Given the description of an element on the screen output the (x, y) to click on. 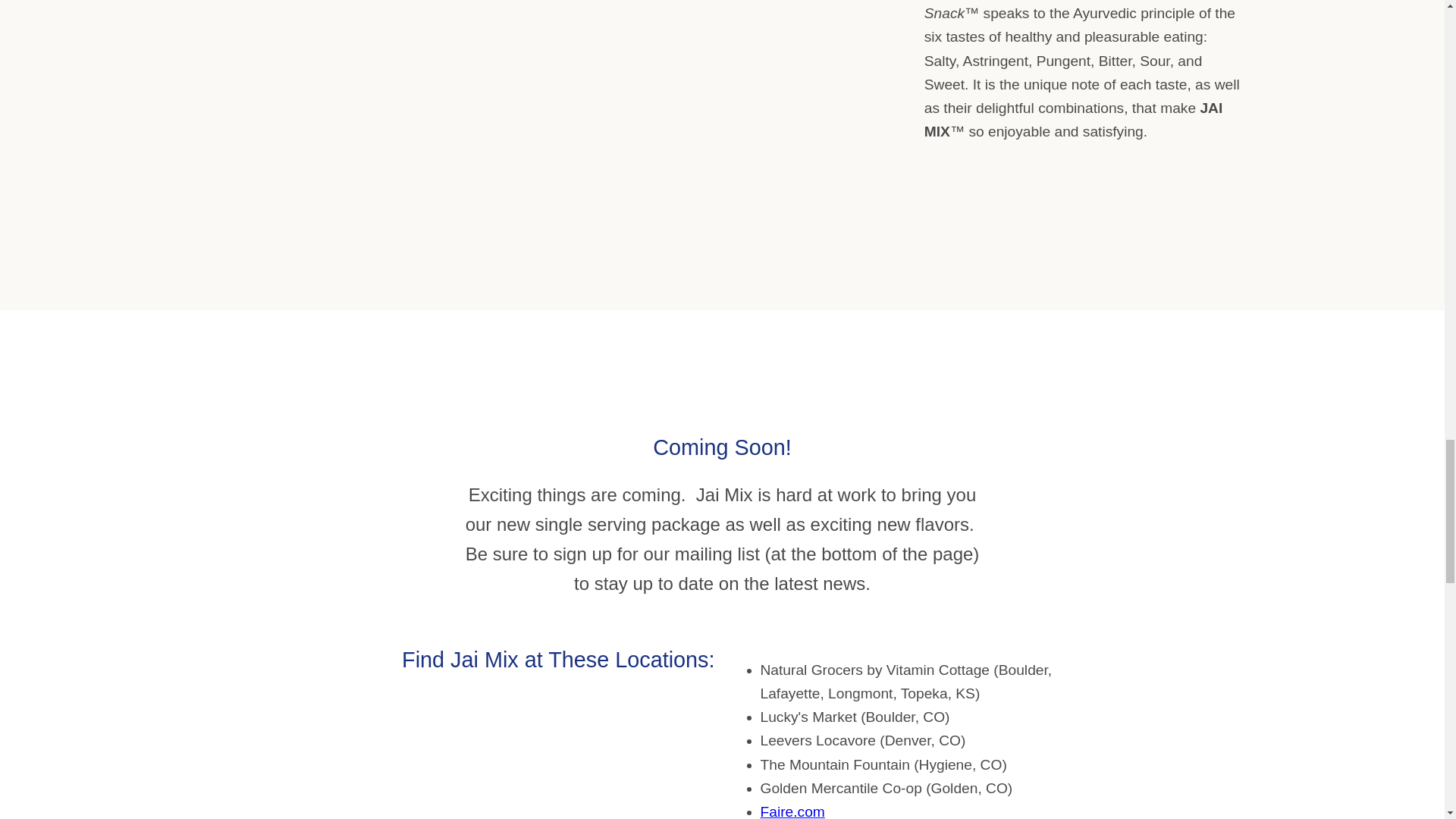
Faire.com (792, 811)
